Given the description of an element on the screen output the (x, y) to click on. 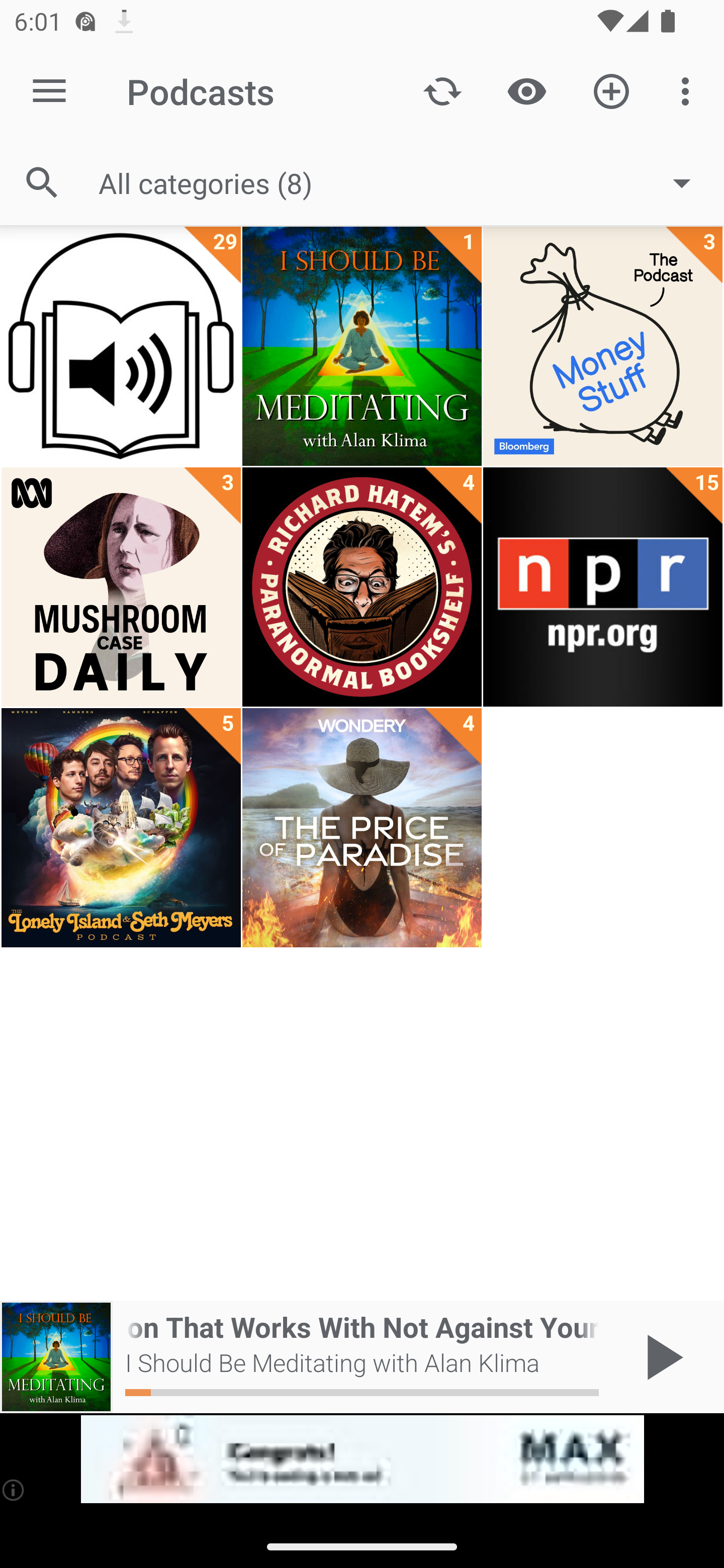
Open navigation sidebar (49, 91)
Update (442, 90)
Show / Hide played content (526, 90)
Add new Podcast (611, 90)
More options (688, 90)
Search (42, 183)
All categories (8) (404, 182)
Audiobooks 29 (121, 346)
Money Stuff: The Podcast 3 (602, 346)
Mushroom Case Daily 3 (121, 587)
Richard Hatem's Paranormal Bookshelf 4 (361, 587)
Stories from NPR : NPR 15 (602, 587)
The Lonely Island and Seth Meyers Podcast 5 (121, 827)
The Price of Paradise 4 (361, 827)
Play / Pause (660, 1356)
app-monetization (362, 1459)
(i) (14, 1489)
